Given the description of an element on the screen output the (x, y) to click on. 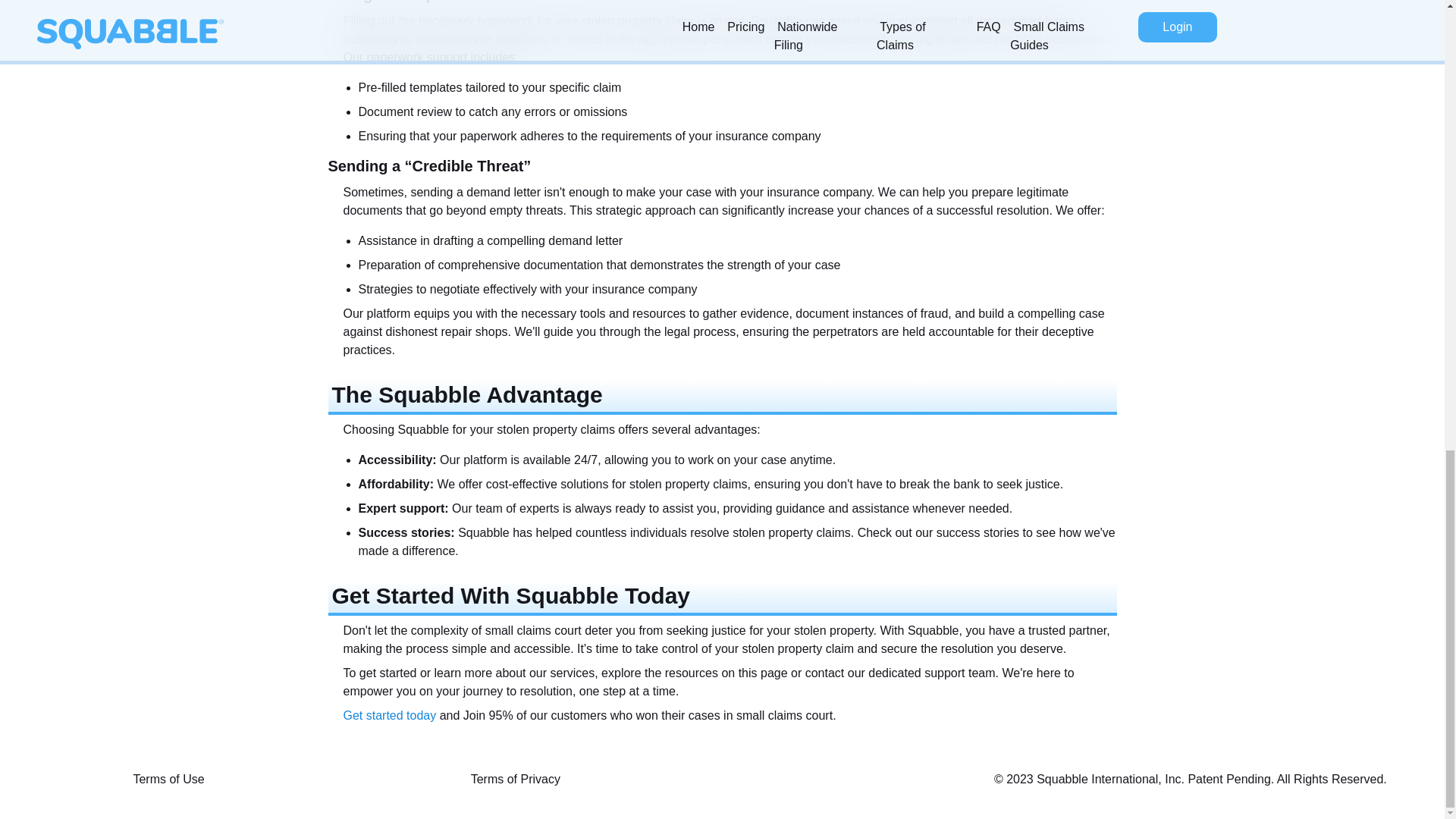
Terms of Privacy (515, 779)
Terms of Use (167, 779)
Get started today (388, 715)
